Given the description of an element on the screen output the (x, y) to click on. 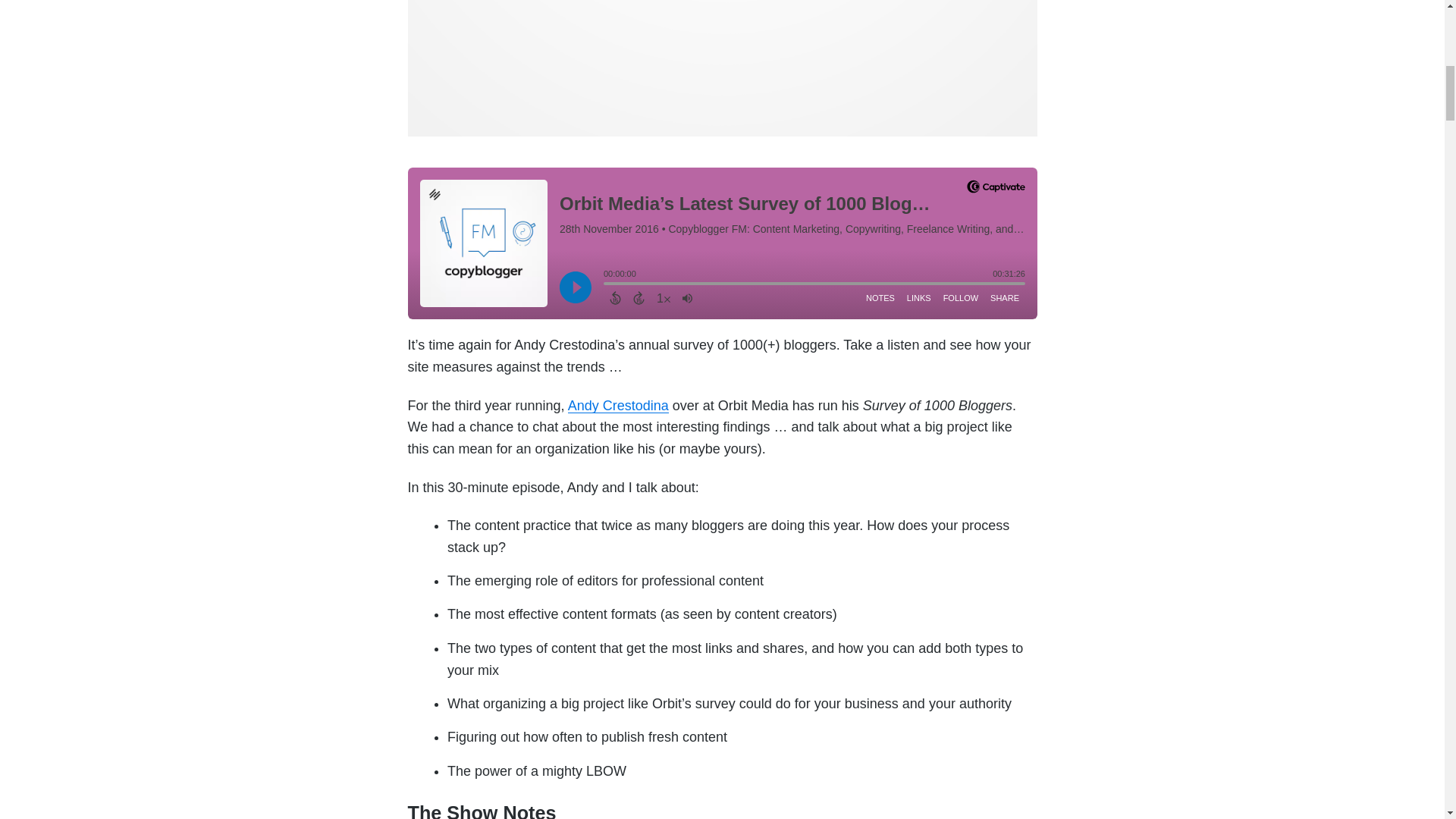
Andy Crestodina (617, 405)
